Given the description of an element on the screen output the (x, y) to click on. 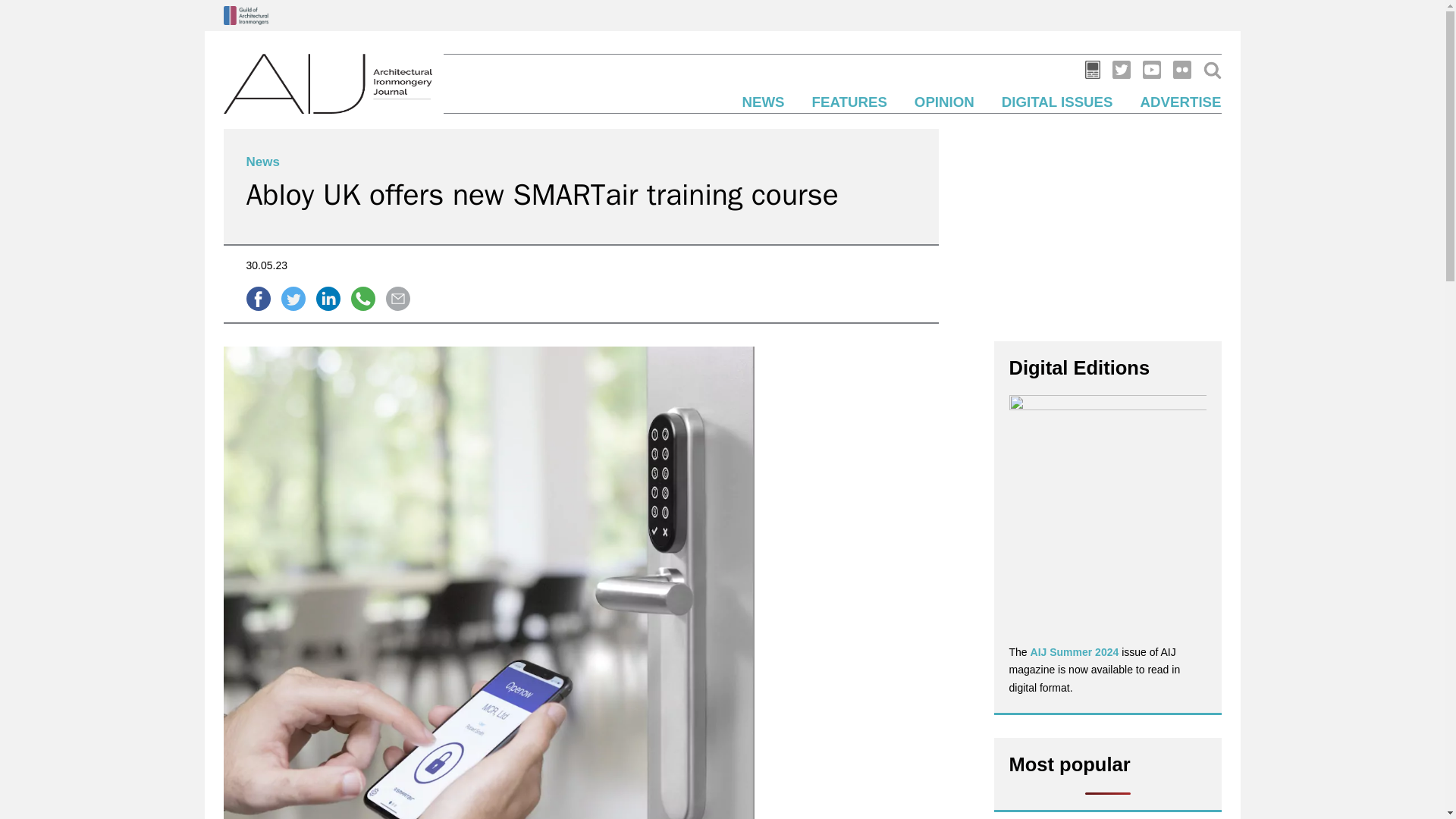
NEWS (762, 101)
DIGITAL ISSUES (1057, 101)
Tweet (292, 298)
Share on LinkedIn (327, 298)
Share on WhatsApp (362, 298)
Share on Facebook (257, 298)
Send email (397, 298)
OPINION (944, 101)
FEATURES (849, 101)
ADVERTISE (1180, 101)
